Given the description of an element on the screen output the (x, y) to click on. 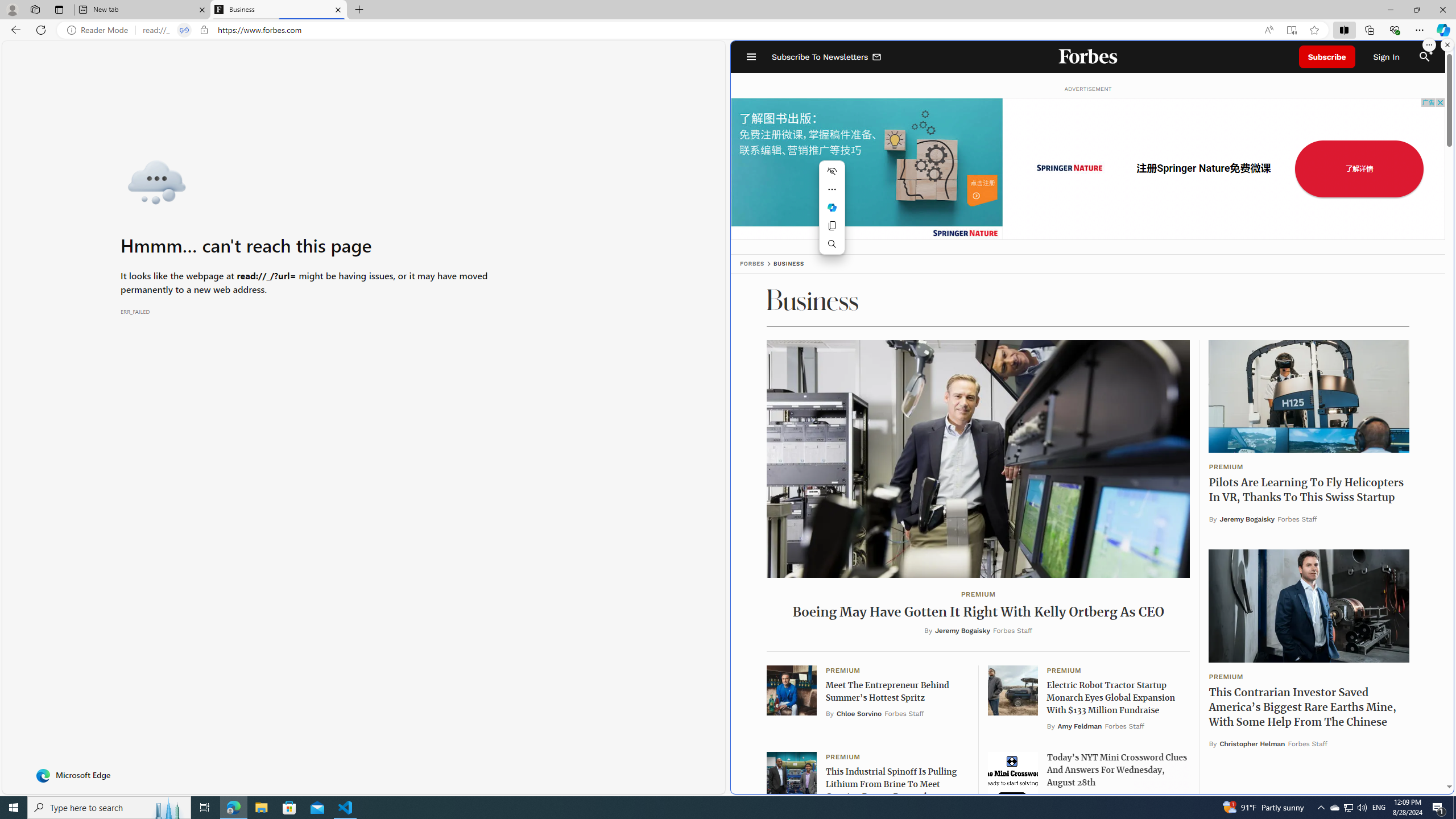
Tabs in split screen (184, 29)
Address and search bar (697, 29)
Hide menu (831, 171)
Business (277, 9)
Open Navigation Menu (750, 56)
